Given the description of an element on the screen output the (x, y) to click on. 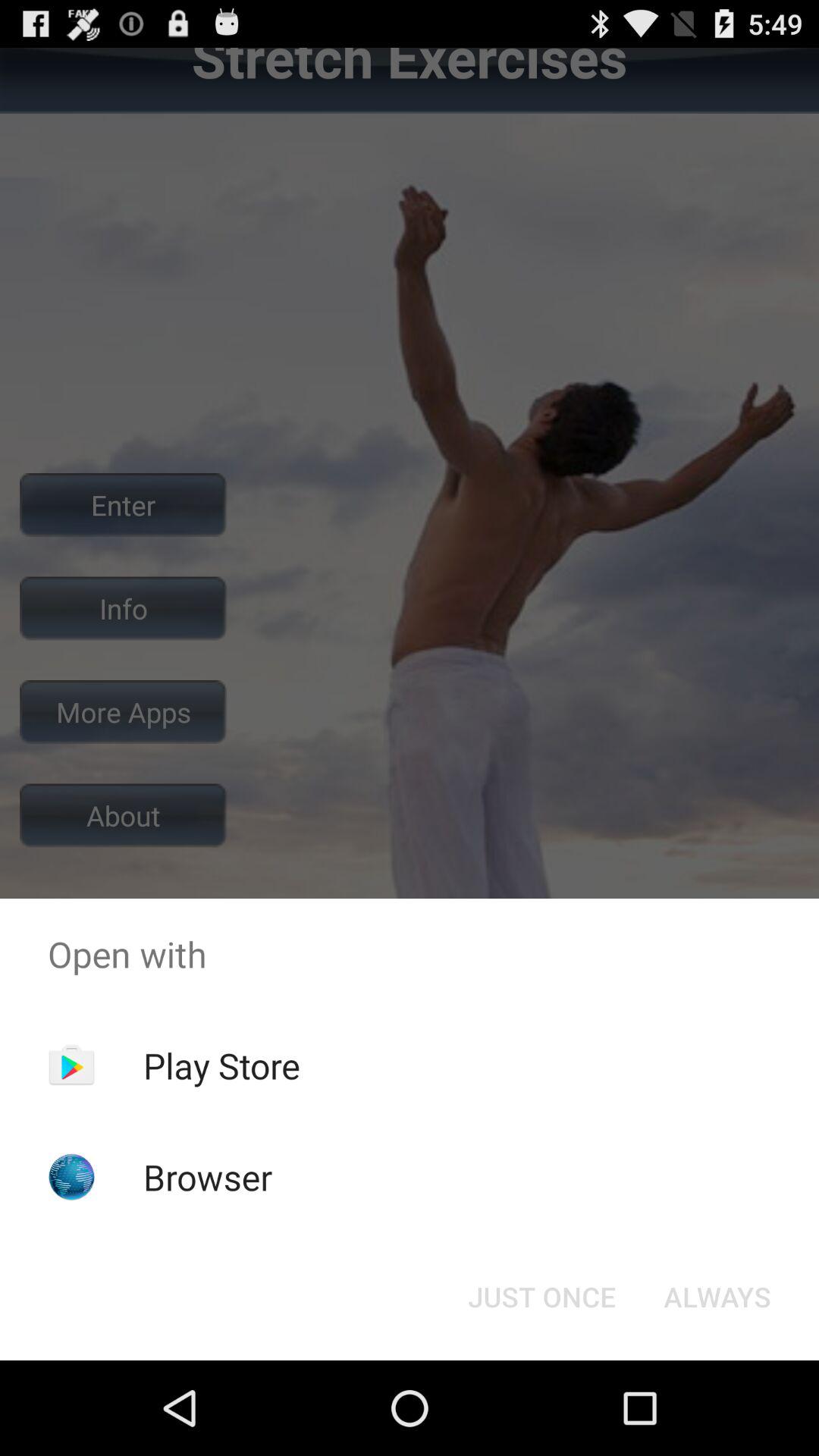
scroll until the play store app (221, 1065)
